Given the description of an element on the screen output the (x, y) to click on. 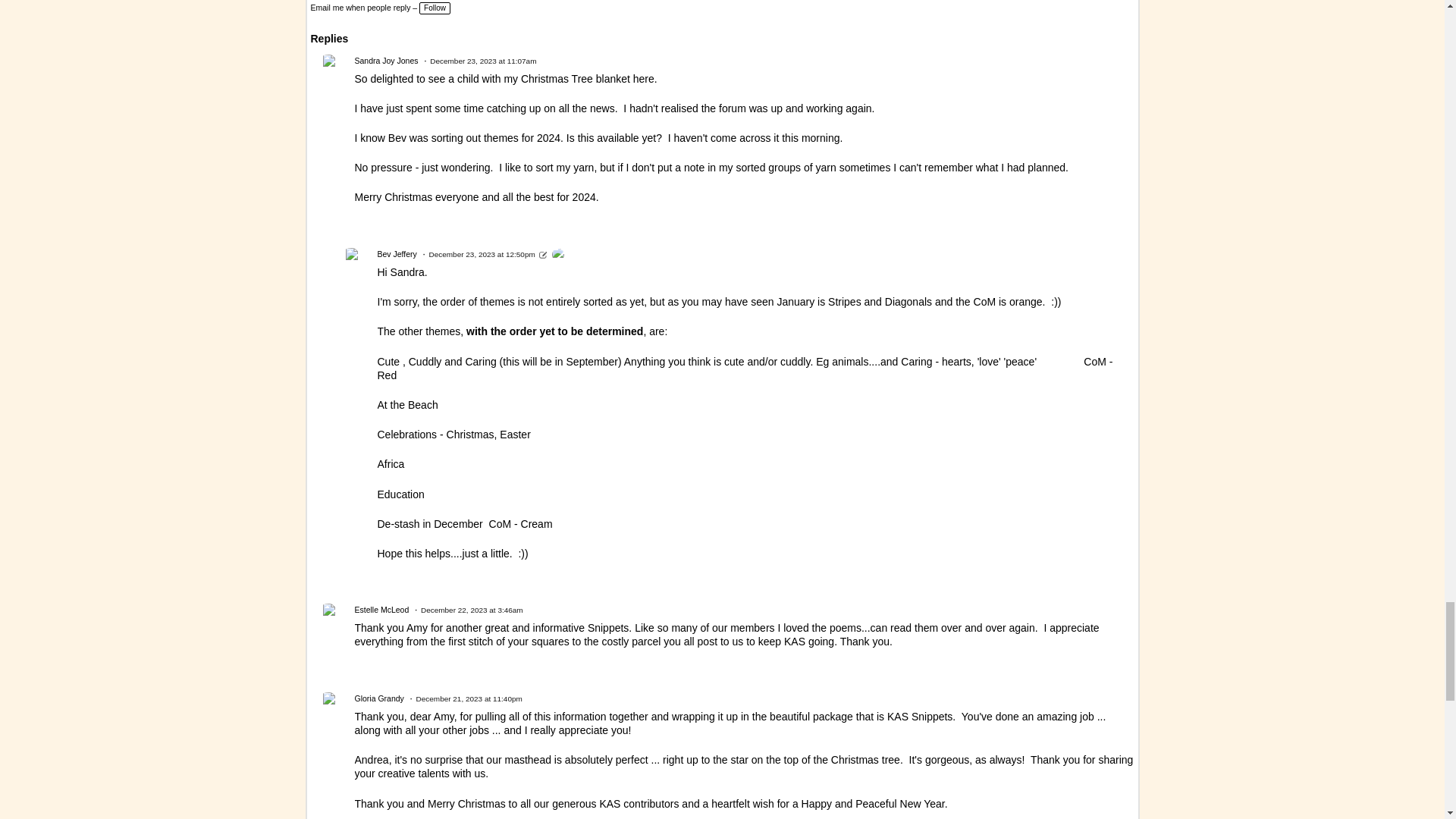
Edited, December 23, 2023 at 12:52pm (542, 254)
Bev Jeffery (557, 254)
